Given the description of an element on the screen output the (x, y) to click on. 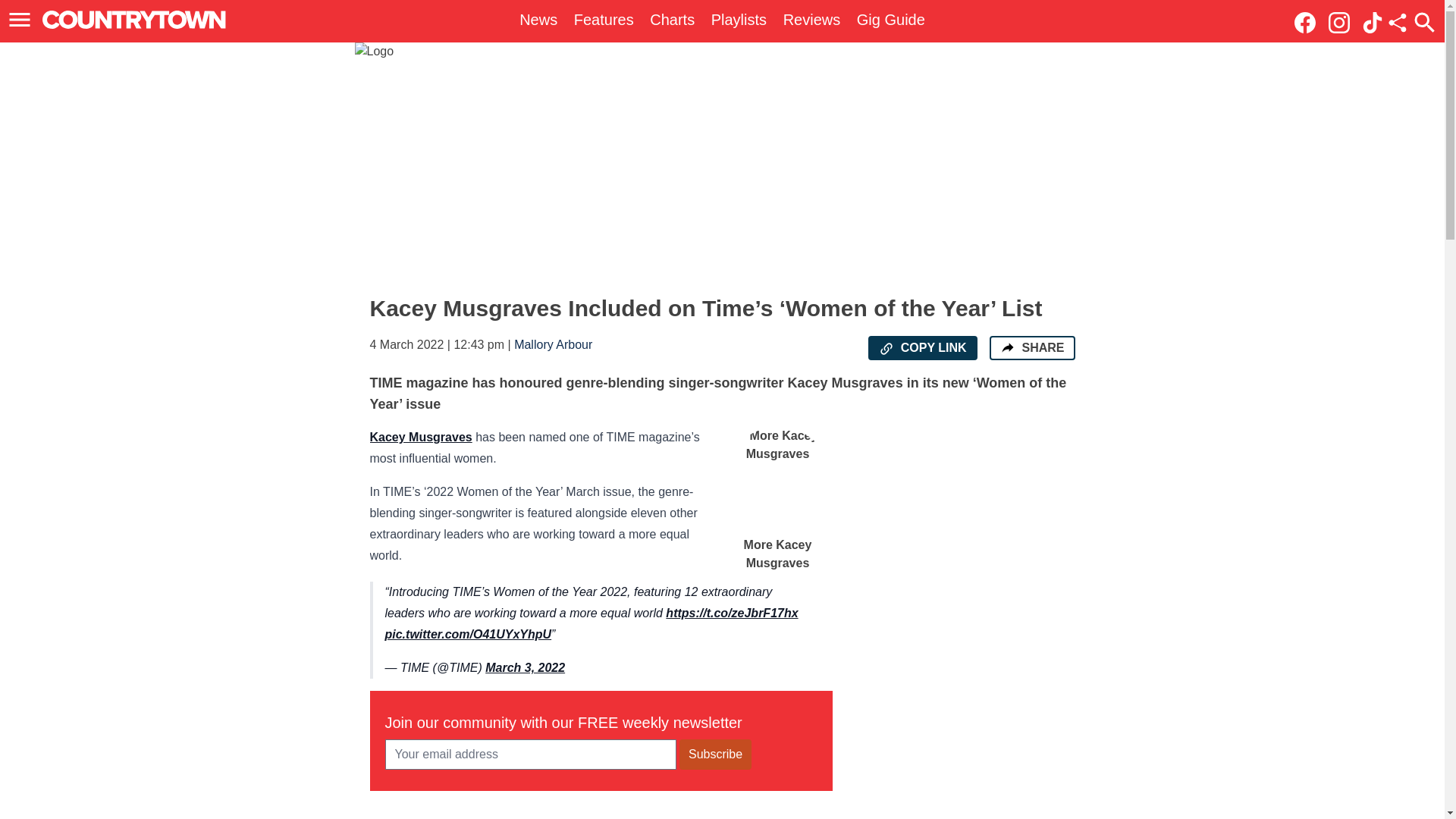
Open the main menu (19, 19)
Open the site search menu (1424, 22)
Copy the page URL (886, 348)
Copy the page URL COPY LINK (921, 347)
Link to our Instagram (1338, 22)
Open the main menu (22, 19)
Link to our TikTok (1372, 22)
March 3, 2022 (524, 667)
Open the site search menu (1424, 22)
Link to our Instagram (1342, 21)
